Given the description of an element on the screen output the (x, y) to click on. 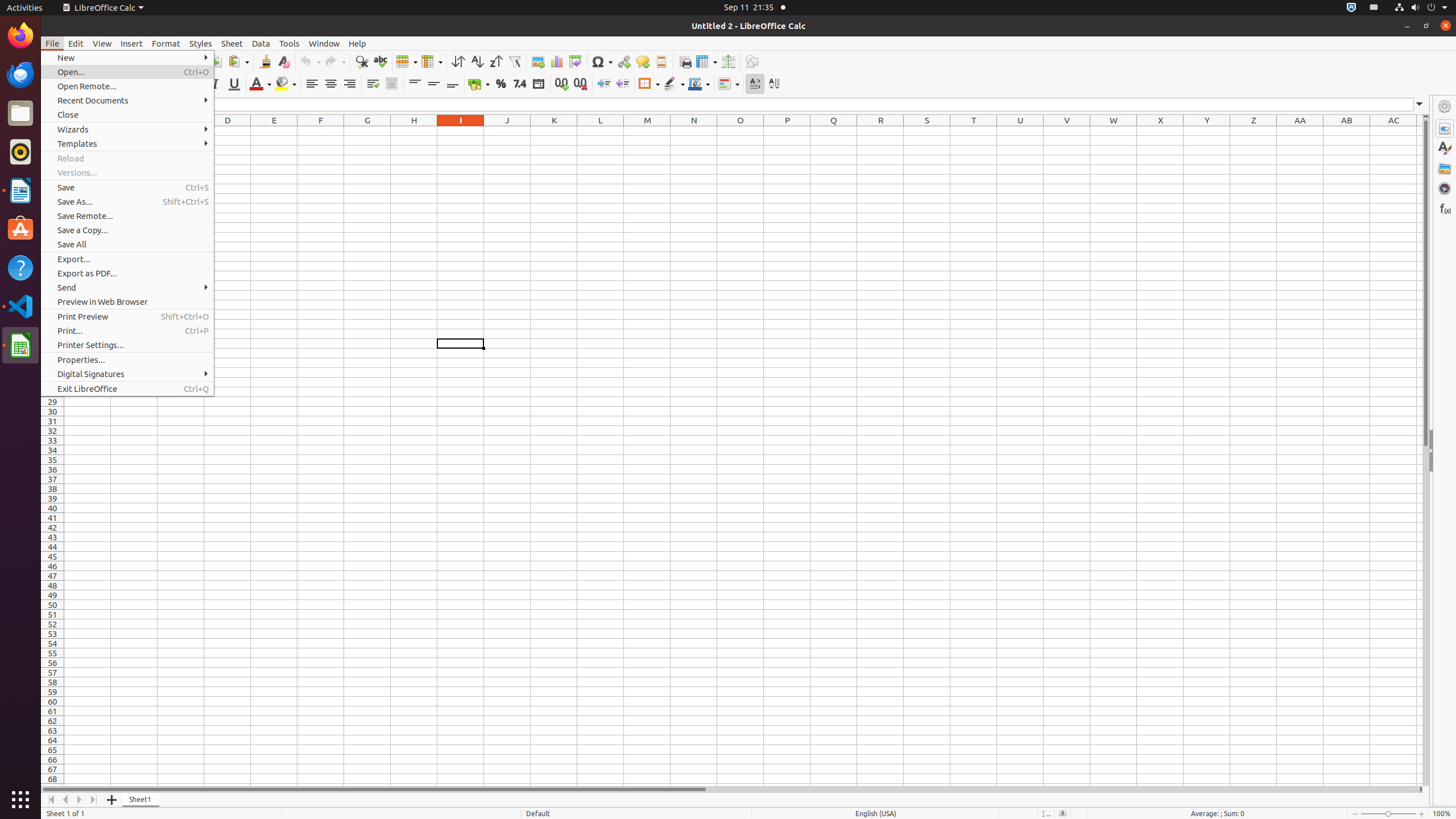
AA1 Element type: table-cell (1299, 130)
Find & Replace Element type: toggle-button (361, 61)
N1 Element type: table-cell (693, 130)
Hyperlink Element type: toggle-button (623, 61)
